Given the description of an element on the screen output the (x, y) to click on. 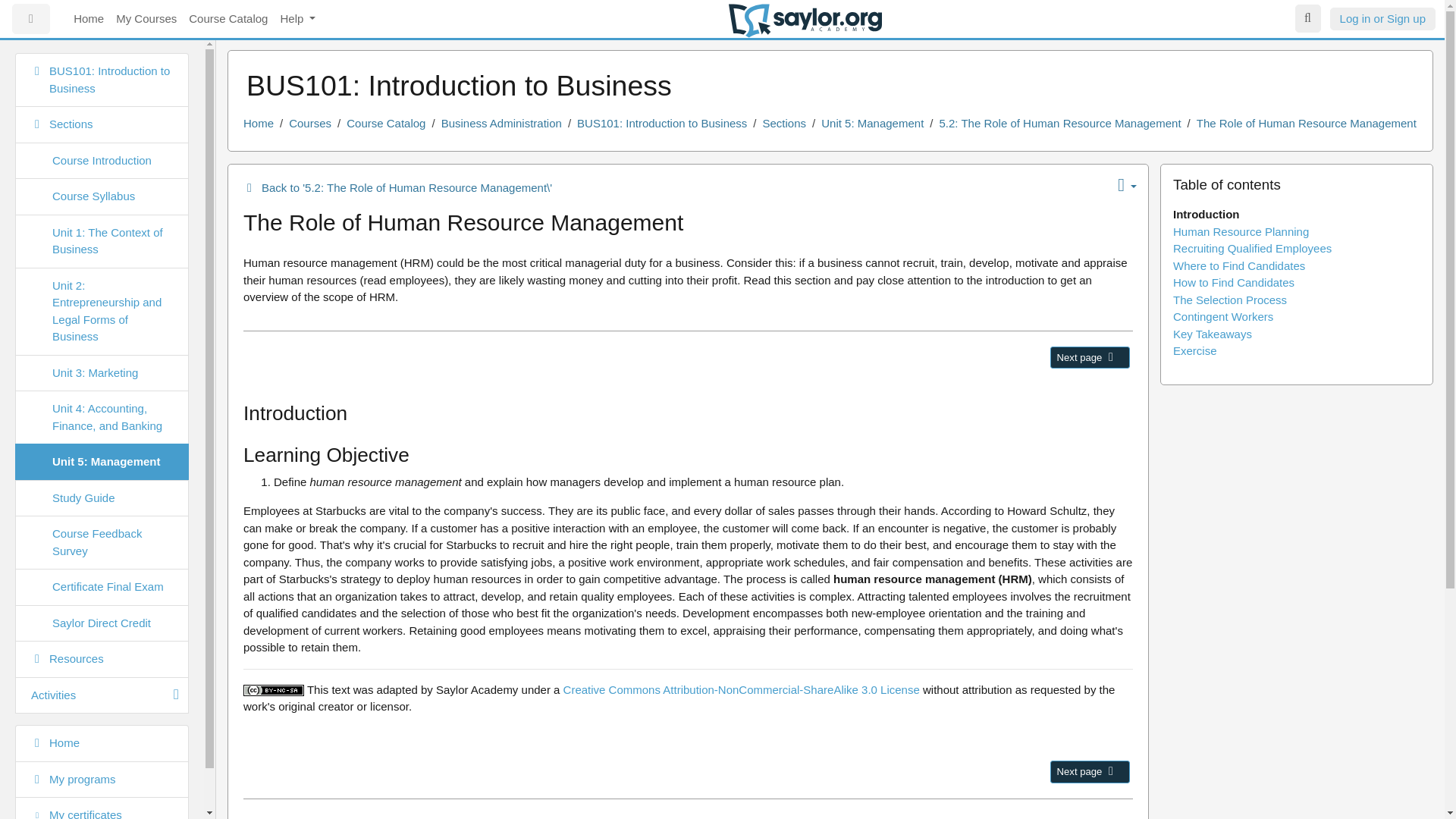
Course Catalog (385, 123)
BUS101: Introduction to Business (661, 123)
Home (258, 123)
Saylor Academy (805, 20)
My certificates (101, 807)
Unit 2: Entrepreneurship and Legal Forms of Business (101, 310)
Certificate Final Exam (101, 587)
Resources (101, 659)
Course Introduction (101, 160)
Next: Human Resource Planning (1089, 771)
Unit 3: Marketing (101, 373)
Unit 5: Management (101, 461)
Saylor Direct Credit (101, 623)
Next: Human Resource Planning (1110, 770)
Home (88, 19)
